Given the description of an element on the screen output the (x, y) to click on. 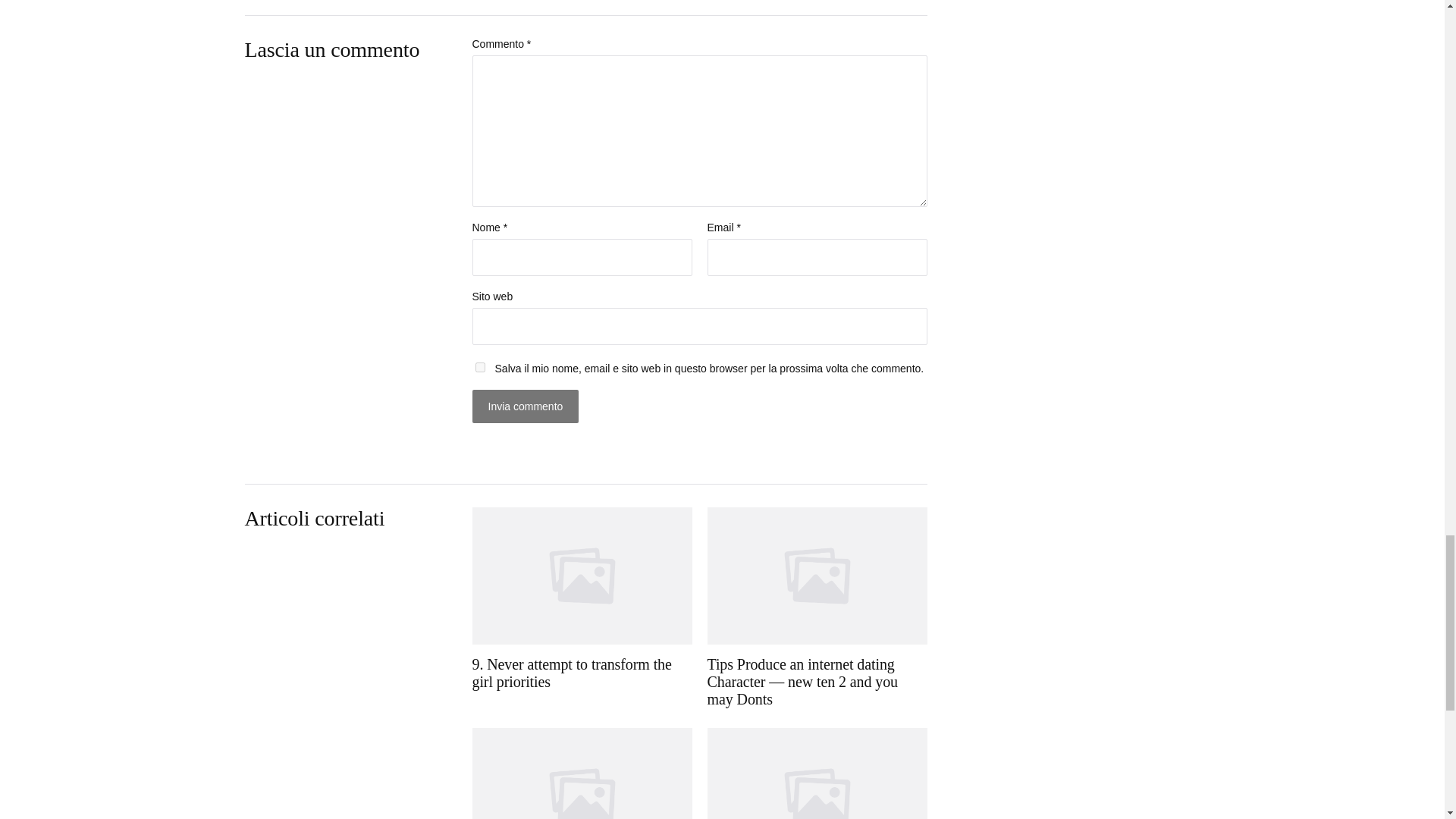
9. Never attempt to transform the girl priorities (581, 607)
yes (479, 367)
Invia commento (524, 406)
9. Never attempt to transform the girl priorities (581, 607)
Invia commento (524, 406)
